Given the description of an element on the screen output the (x, y) to click on. 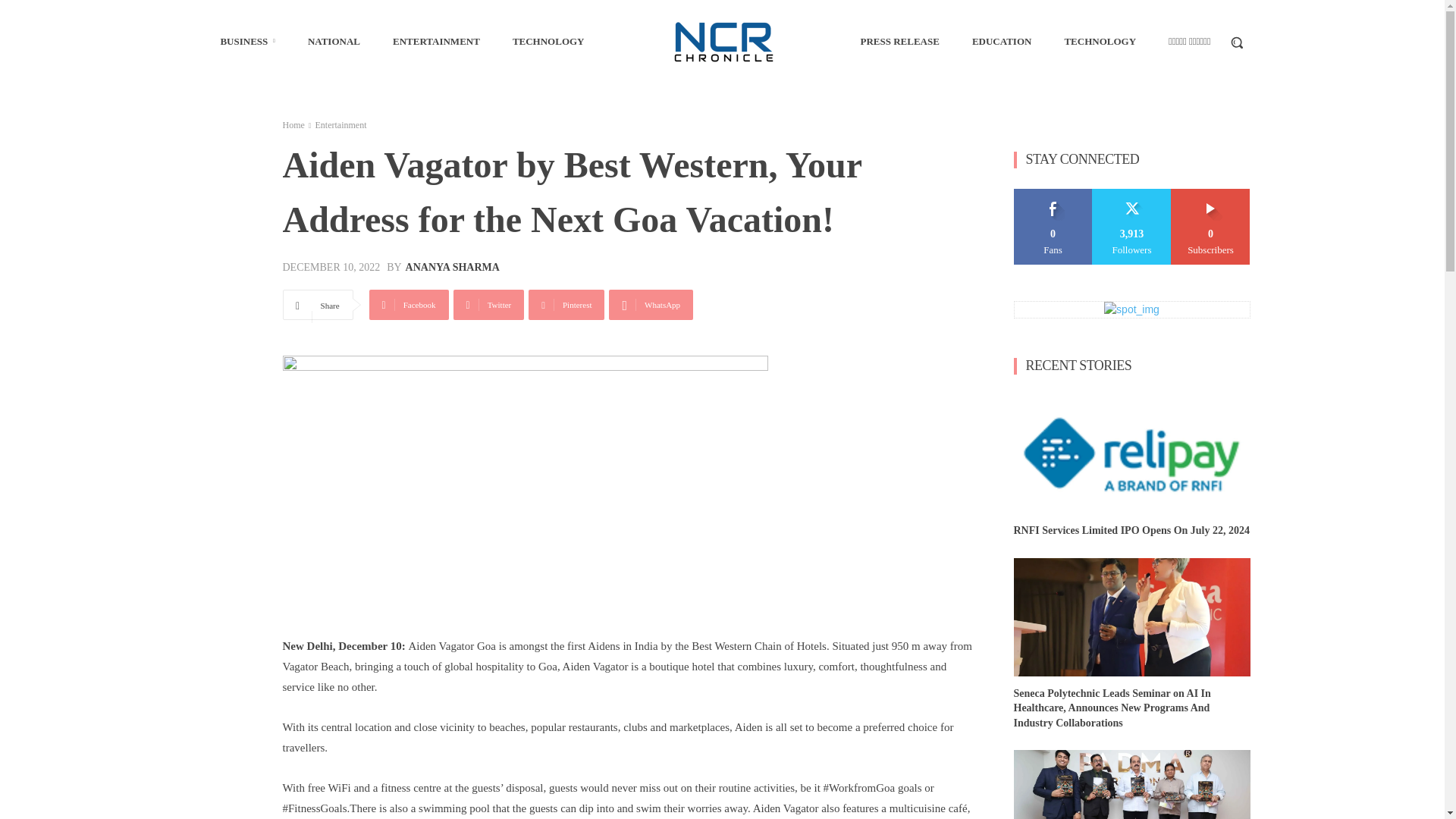
TECHNOLOGY (1099, 40)
EDUCATION (1001, 40)
ENTERTAINMENT (435, 40)
BUSINESS (247, 40)
TECHNOLOGY (548, 40)
NATIONAL (334, 40)
PRESS RELEASE (898, 40)
